Given the description of an element on the screen output the (x, y) to click on. 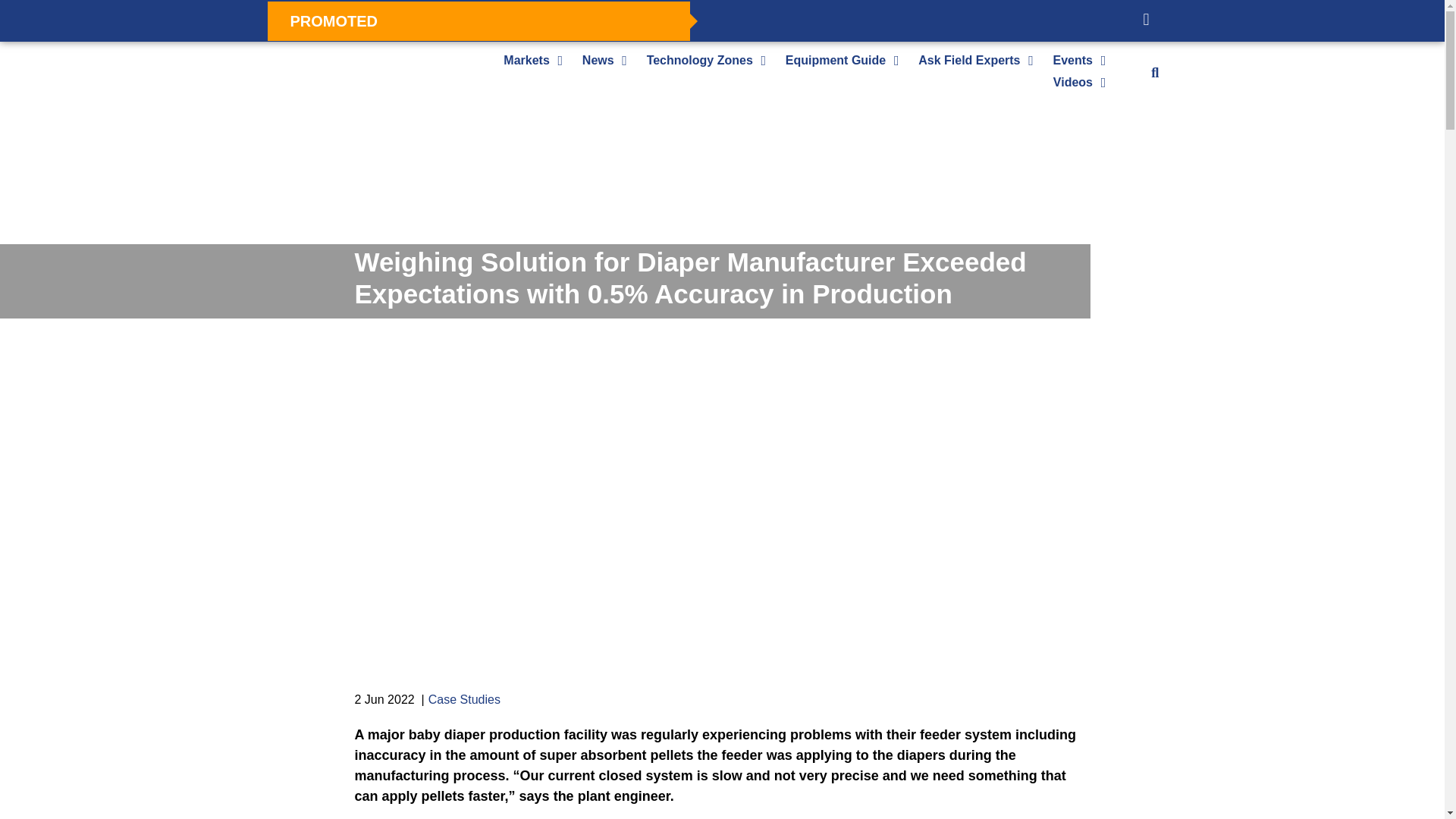
Markets (525, 60)
News (598, 60)
